Given the description of an element on the screen output the (x, y) to click on. 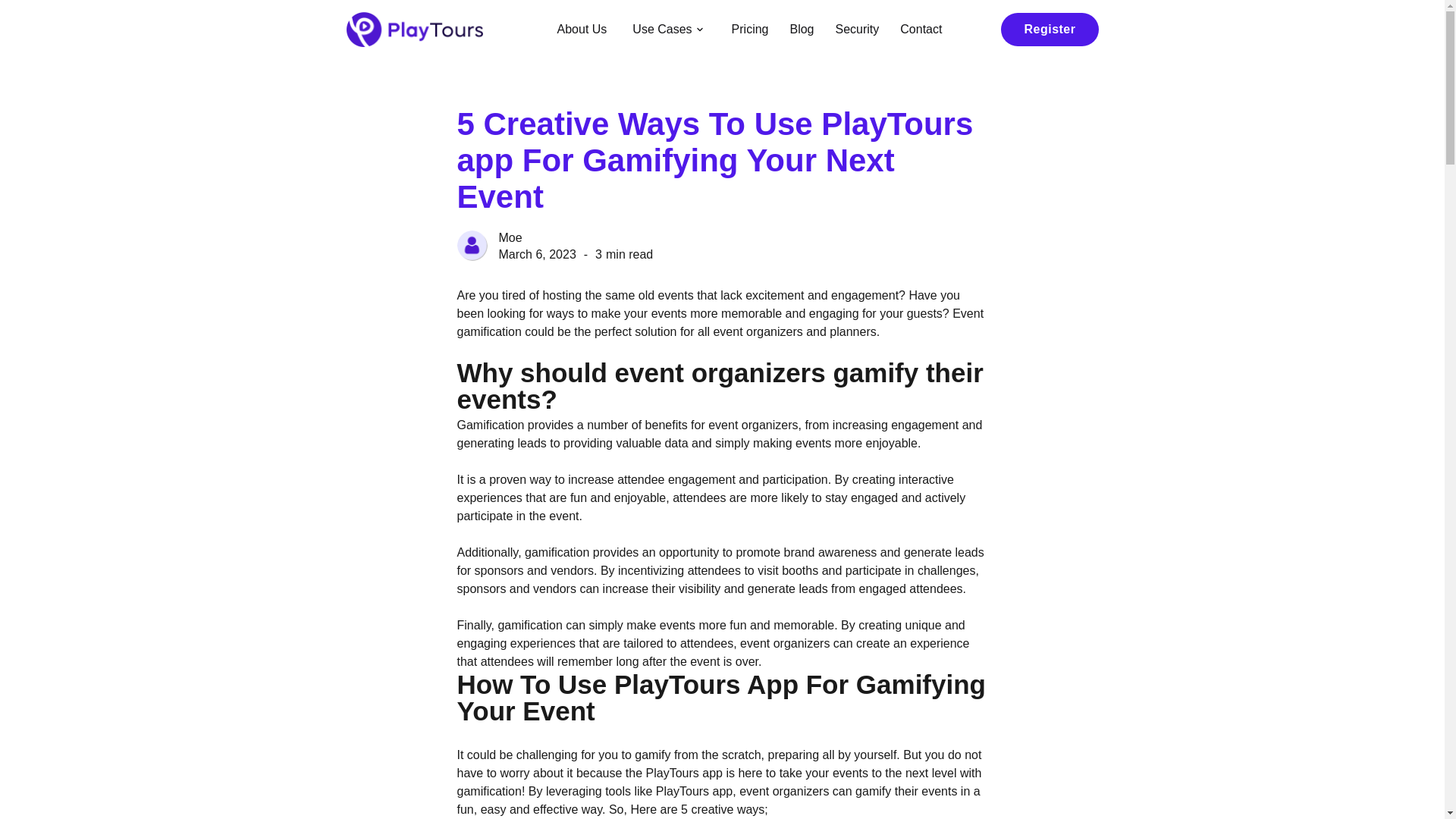
Security (857, 29)
Register (1049, 29)
About Us (582, 29)
Pricing (749, 29)
Contact (920, 29)
Blog (801, 29)
